Given the description of an element on the screen output the (x, y) to click on. 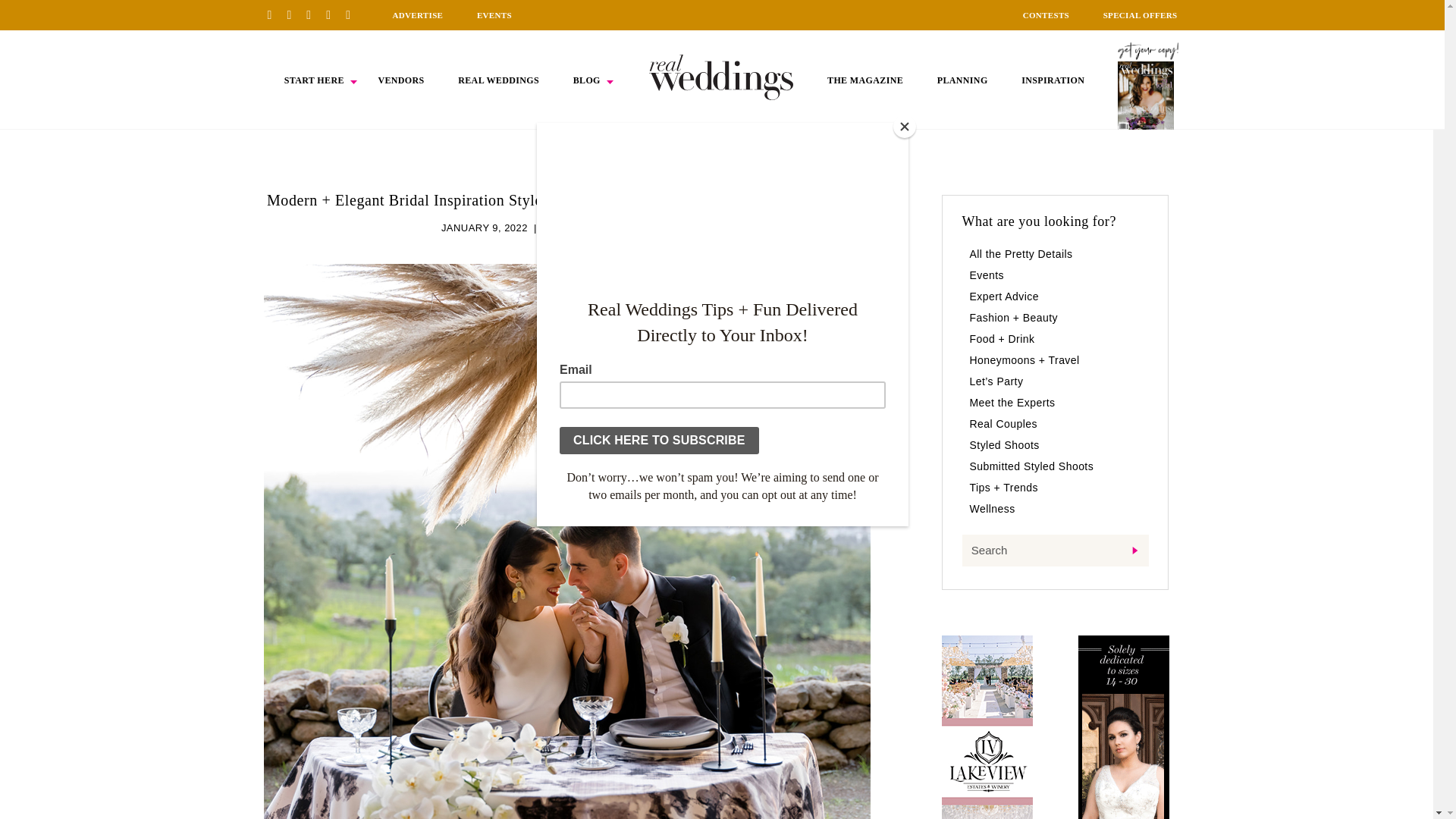
YouTube (353, 14)
INSPIRATION (1053, 80)
SUBMITTED STYLED SHOOTS (618, 227)
BLOG (586, 80)
CONTESTS (1045, 14)
Instagram (313, 14)
HOME (721, 76)
PLANNING (962, 80)
VENDORS (400, 80)
EVENTS (494, 14)
REAL WEDDINGS (498, 80)
Pinterest (274, 14)
START HERE (313, 80)
ADVERTISE (416, 14)
THE MAGAZINE (864, 80)
